Given the description of an element on the screen output the (x, y) to click on. 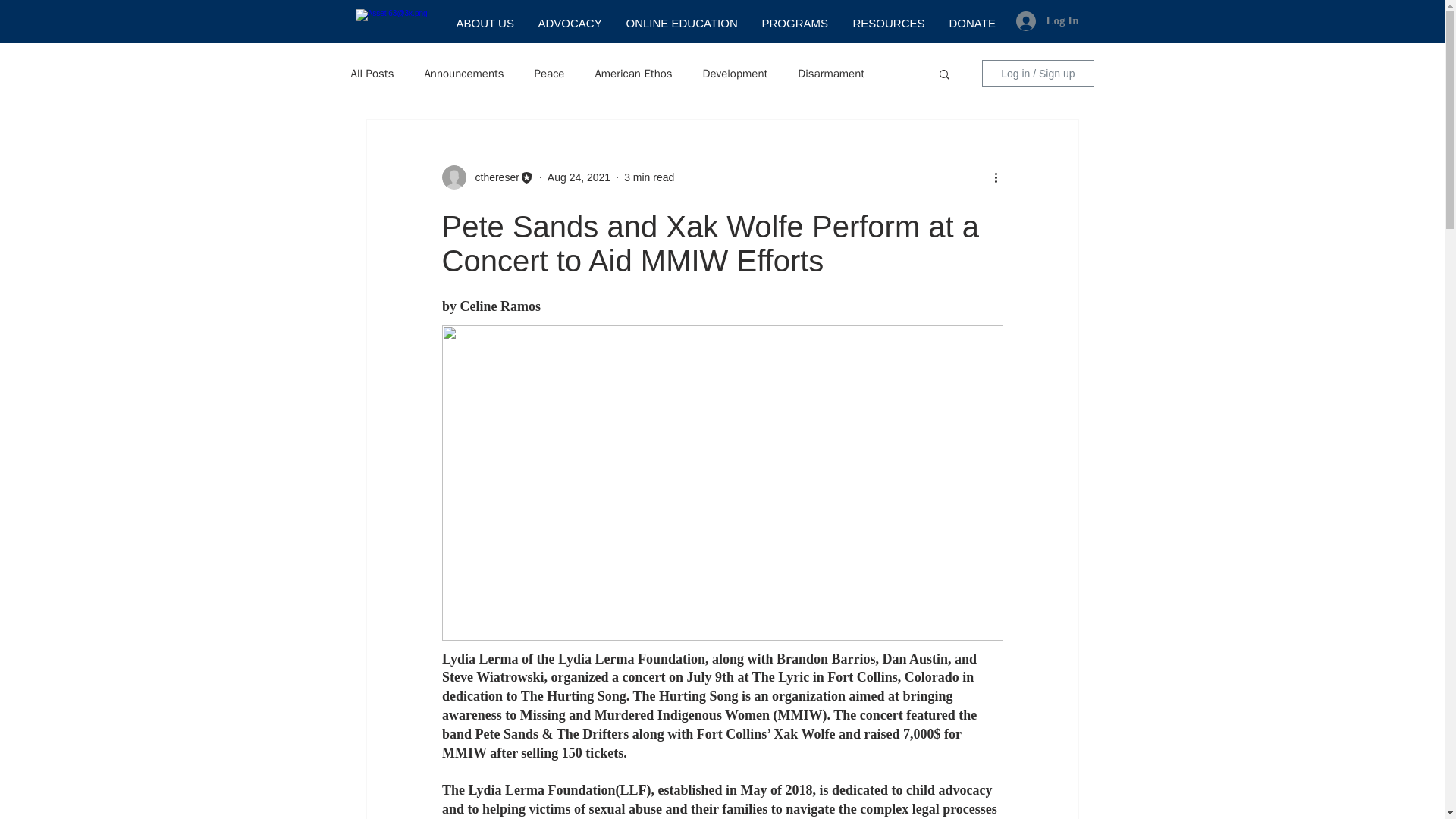
3 min read (649, 177)
PROGRAMS (796, 22)
Announcements (463, 73)
Aug 24, 2021 (578, 177)
All Posts (371, 73)
ADVOCACY (568, 22)
cthereser (491, 177)
ABOUT US (484, 22)
Log In (1047, 20)
Peace (549, 73)
